Given the description of an element on the screen output the (x, y) to click on. 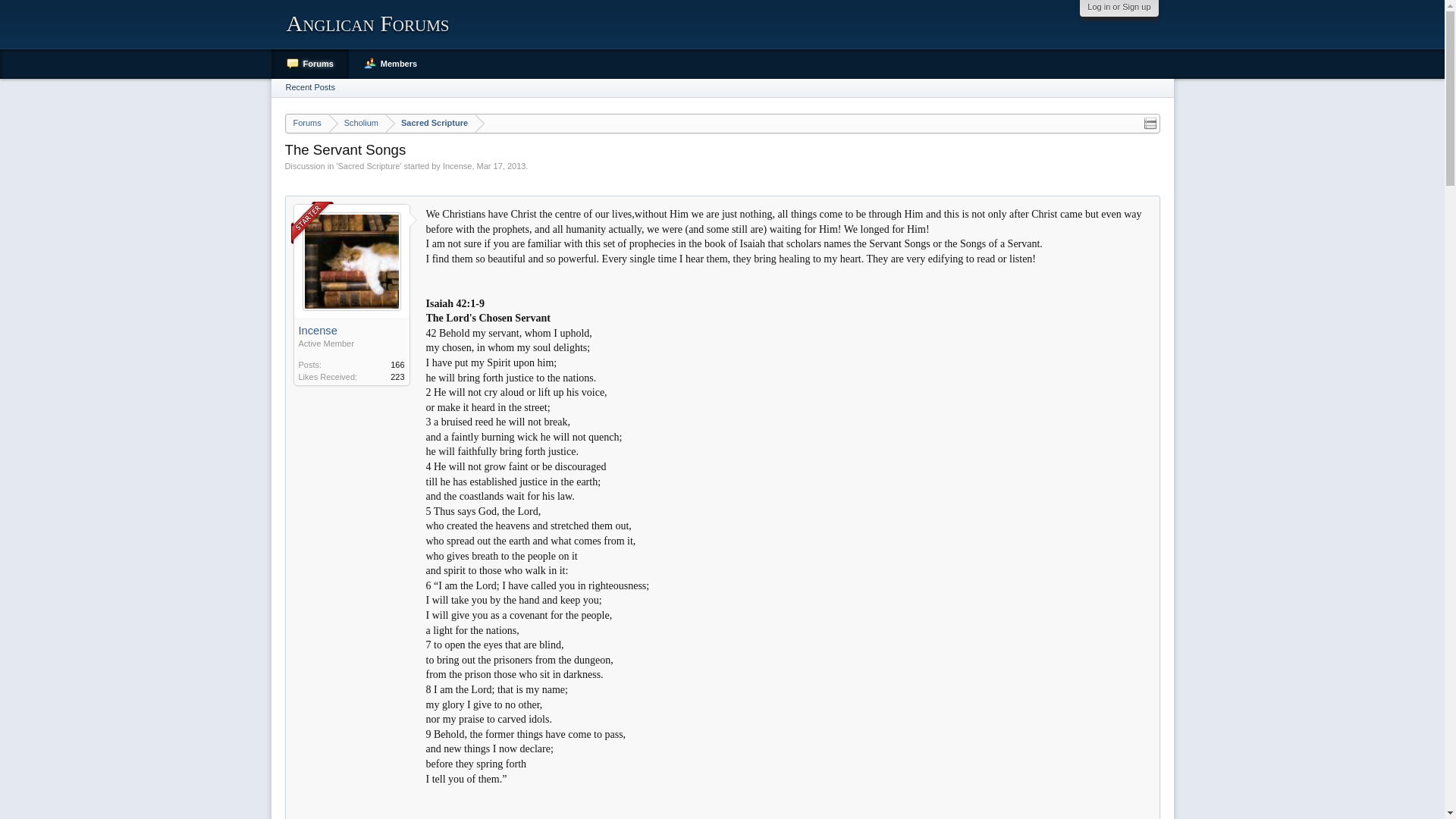
166 (397, 364)
Mar 17, 2013 (501, 165)
Recent Posts (310, 88)
Forums (309, 63)
Scholium (357, 123)
Anglican Forums (367, 22)
Incense (351, 330)
Incense (456, 165)
Open quick navigation (1149, 123)
Sacred Scripture (430, 123)
Sacred Scripture (367, 165)
Log in or Sign up (1118, 6)
Forums (307, 123)
Mar 17, 2013 at 8:04 AM (501, 165)
Members (390, 63)
